Given the description of an element on the screen output the (x, y) to click on. 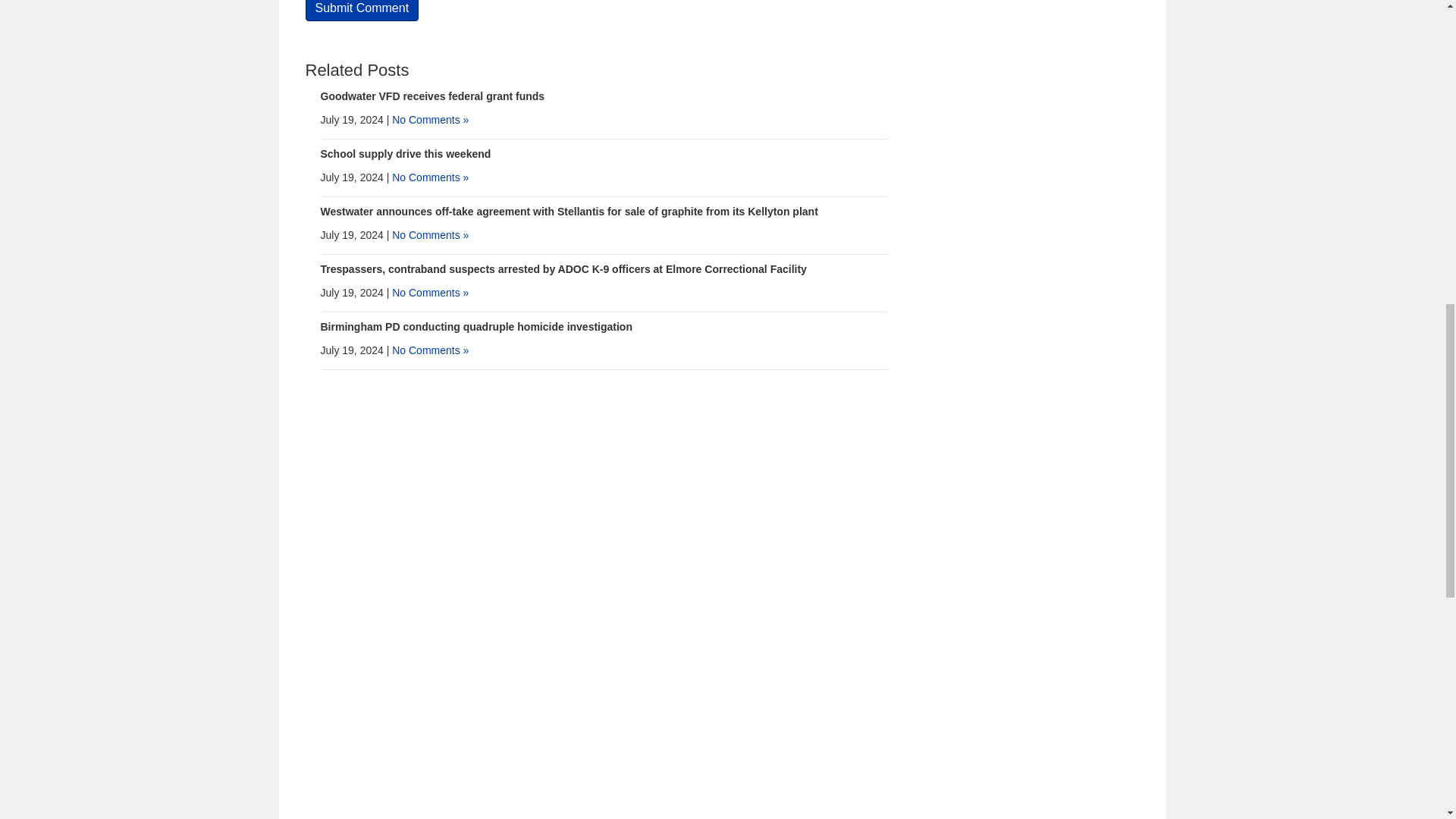
Birmingham PD conducting quadruple homicide investigation (475, 326)
Goodwater VFD receives federal grant funds (432, 96)
Submit Comment (361, 10)
School supply drive this weekend (405, 153)
